Given the description of an element on the screen output the (x, y) to click on. 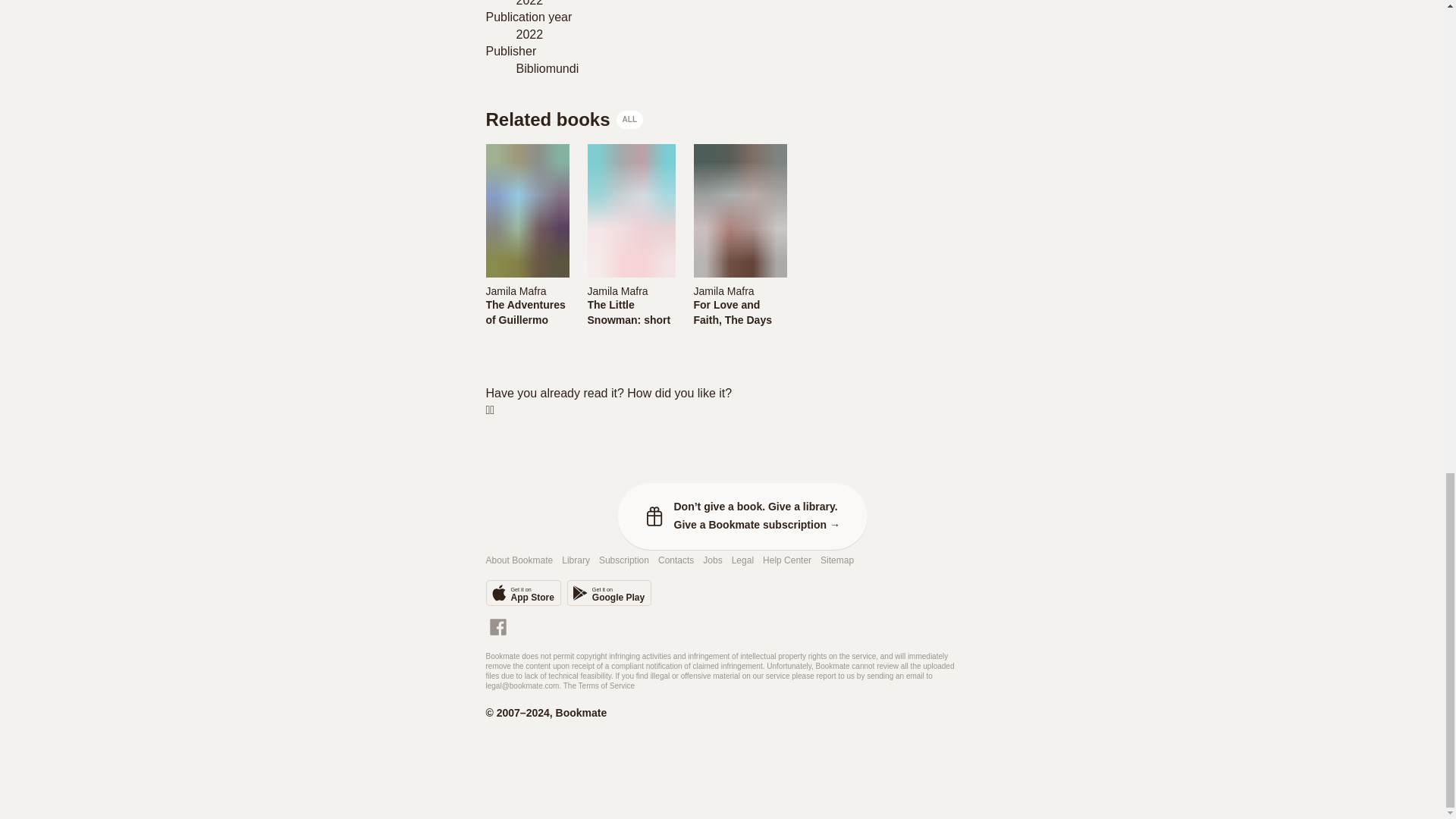
Jobs (712, 560)
Sitemap (837, 560)
Jamila Mafra (629, 290)
Jamila Mafra (515, 291)
The Little Snowman: short stories for children (629, 312)
The Little Snowman: short stories for children (629, 327)
For Love and Faith, The Days At Auschwitz (738, 312)
Jamila Mafra (723, 291)
Jamila Mafra (525, 290)
About Bookmate (518, 560)
